Given the description of an element on the screen output the (x, y) to click on. 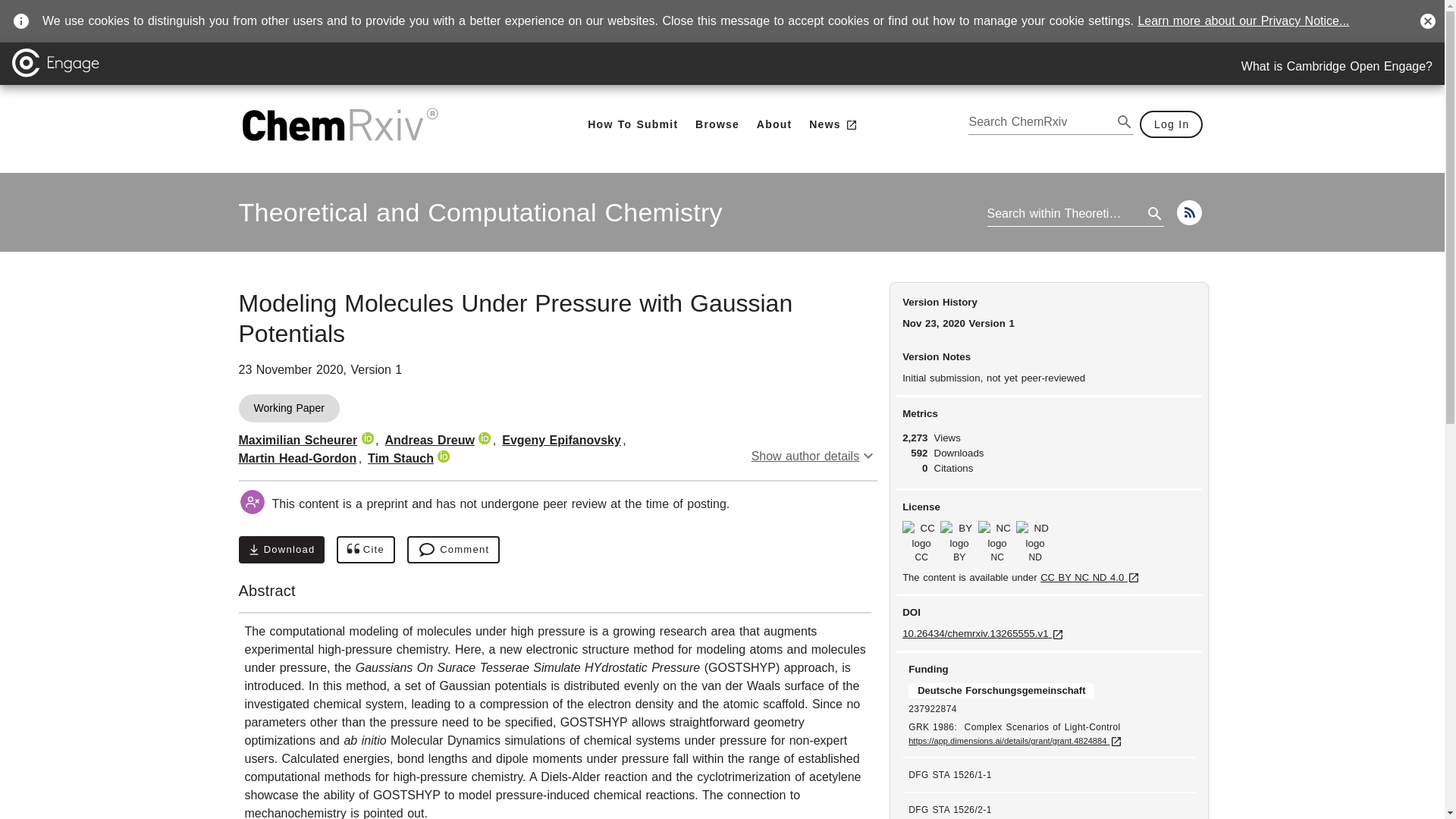
Browse (716, 124)
Tim Stauch (400, 458)
Log In (1172, 124)
Andreas Dreuw (429, 440)
Download (280, 549)
Cite (480, 212)
Martin Head-Gordon (365, 549)
How To Submit (297, 458)
Comment (632, 124)
